Given the description of an element on the screen output the (x, y) to click on. 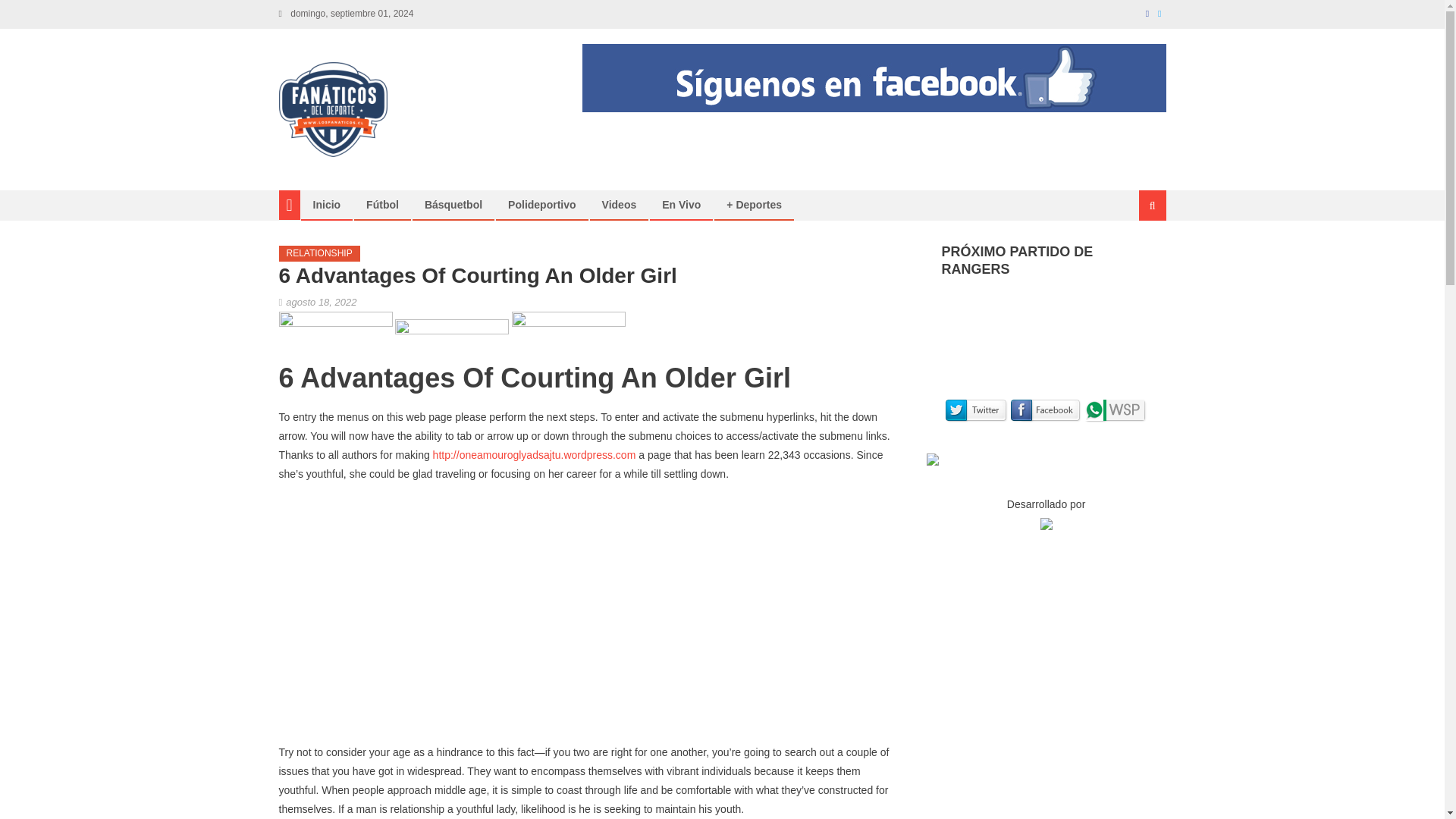
RELATIONSHIP (319, 253)
Buscar (1133, 256)
Inicio (326, 204)
Polideportivo (541, 204)
En Vivo (680, 204)
agosto 18, 2022 (320, 301)
Videos (619, 204)
